Given the description of an element on the screen output the (x, y) to click on. 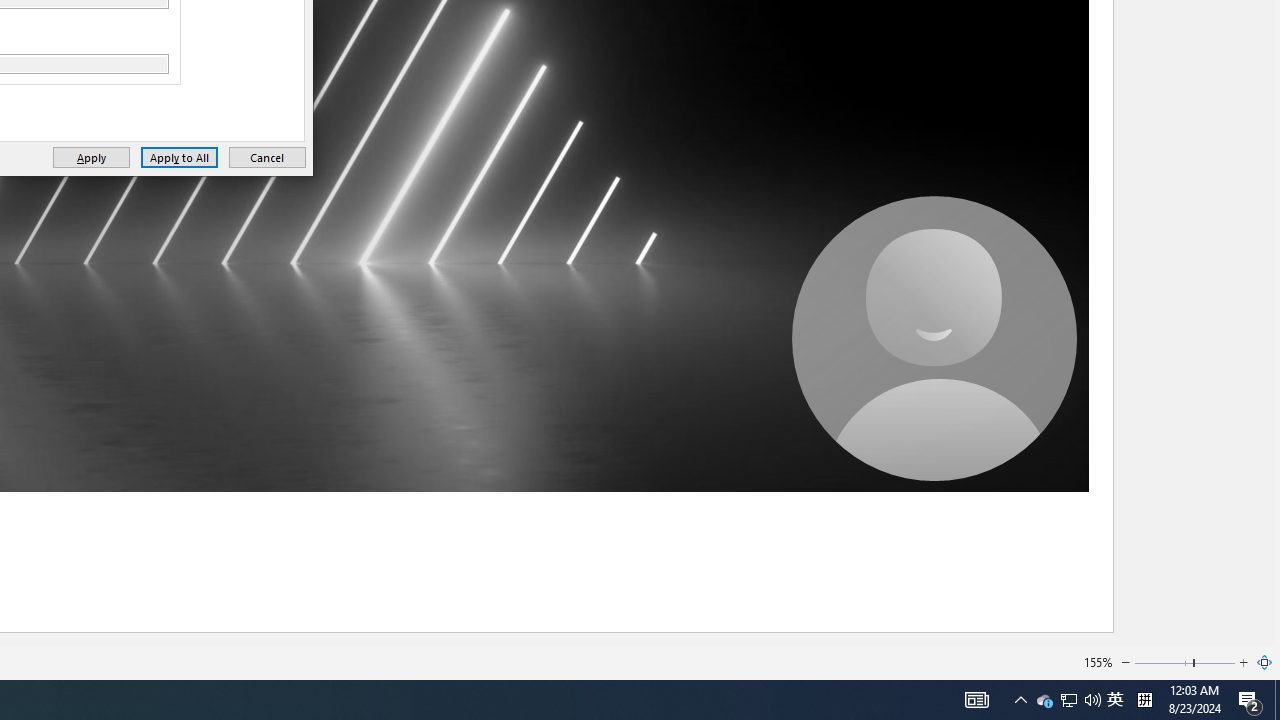
Zoom to Page (1265, 662)
Apply to All (178, 157)
Cancel (267, 157)
155% (1098, 662)
Page right (1215, 662)
Page left (1044, 699)
